Given the description of an element on the screen output the (x, y) to click on. 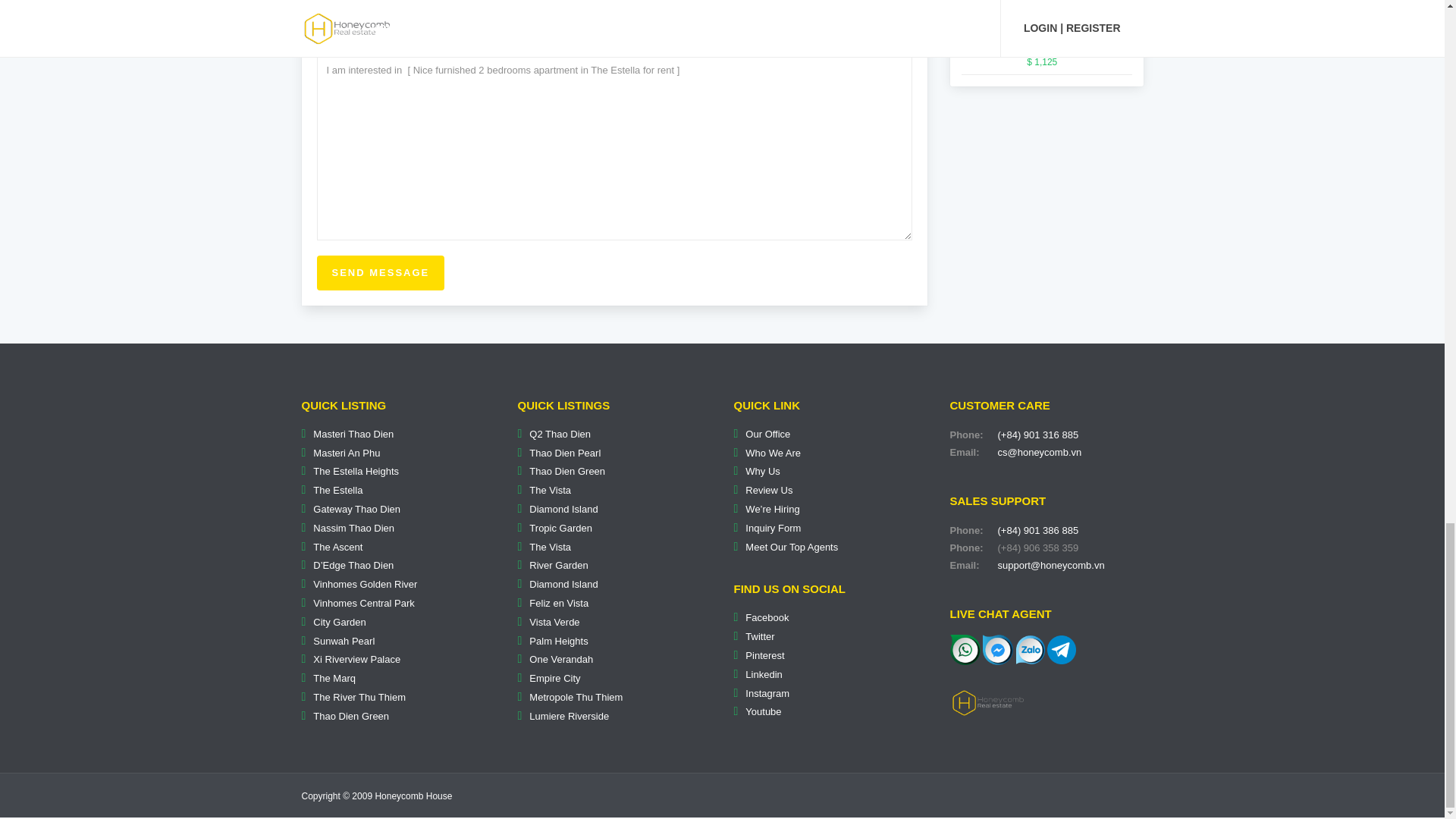
Send Message (381, 272)
Telegram (1060, 648)
WhatsApp (964, 649)
Messenger (997, 648)
Telegram (1060, 649)
Zalo (1030, 648)
Messenger (997, 649)
Send Message (381, 272)
WhatsApp (964, 648)
Zalo (1030, 649)
